Given the description of an element on the screen output the (x, y) to click on. 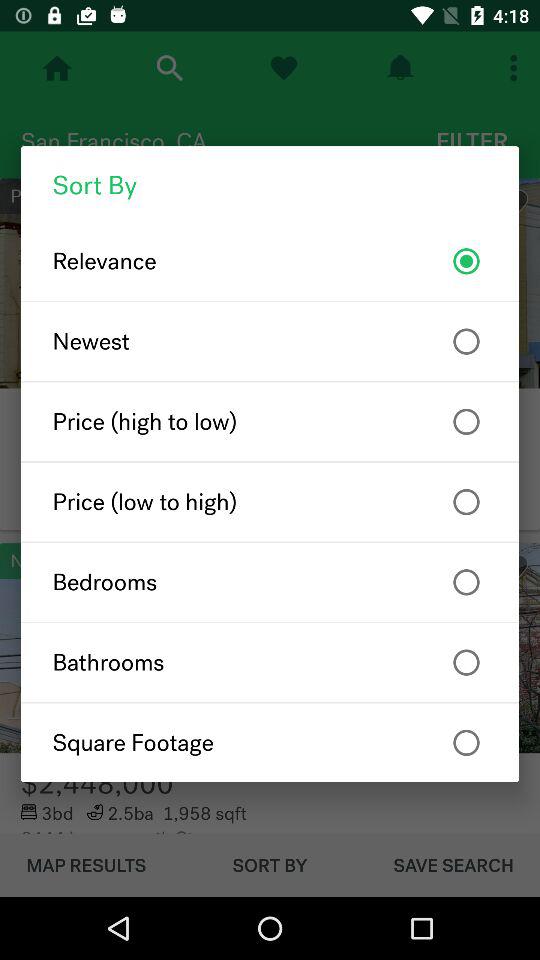
tap newest icon (270, 341)
